Given the description of an element on the screen output the (x, y) to click on. 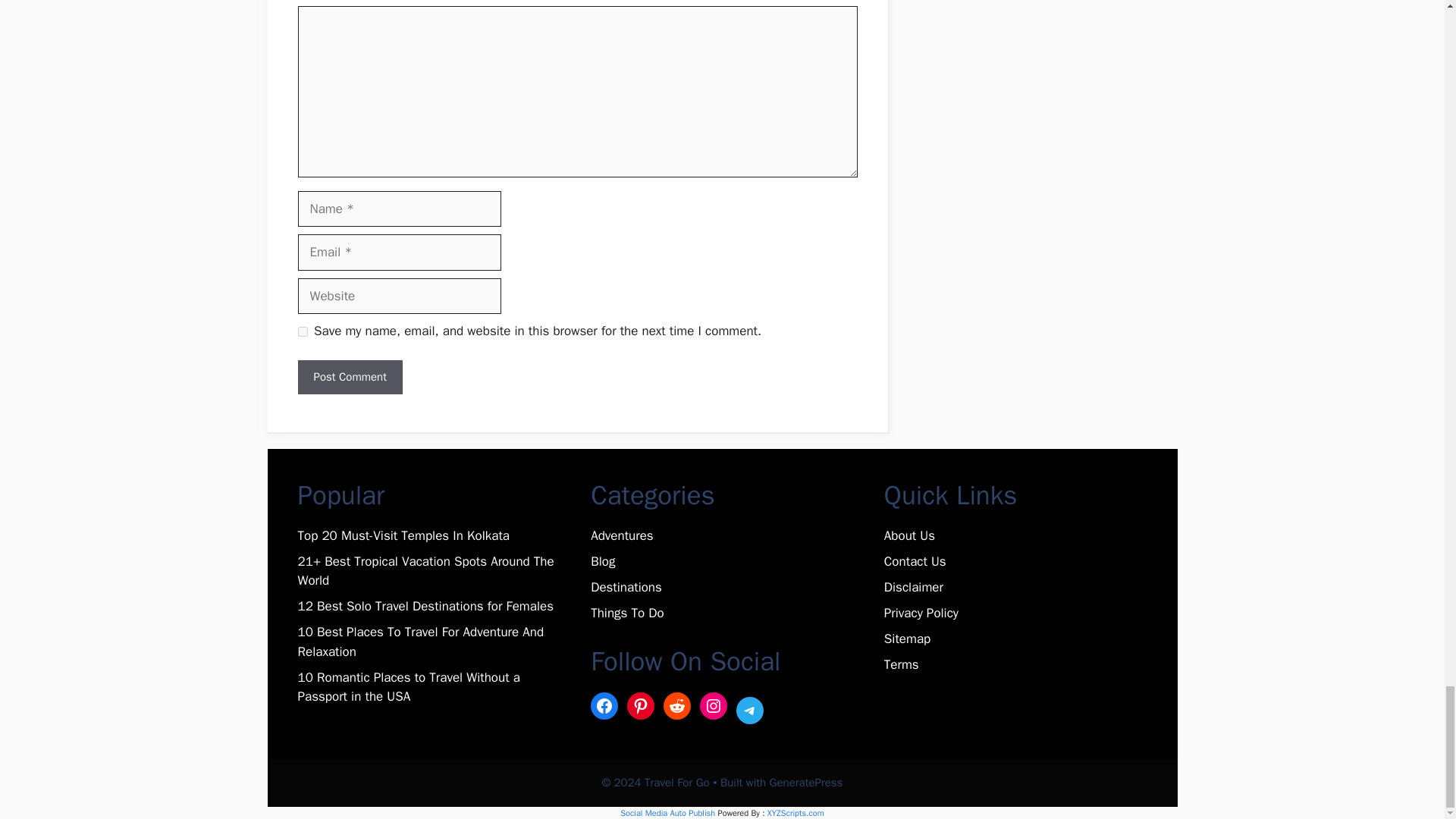
Social Media Auto Publish (667, 812)
Post Comment (349, 376)
yes (302, 331)
